Given the description of an element on the screen output the (x, y) to click on. 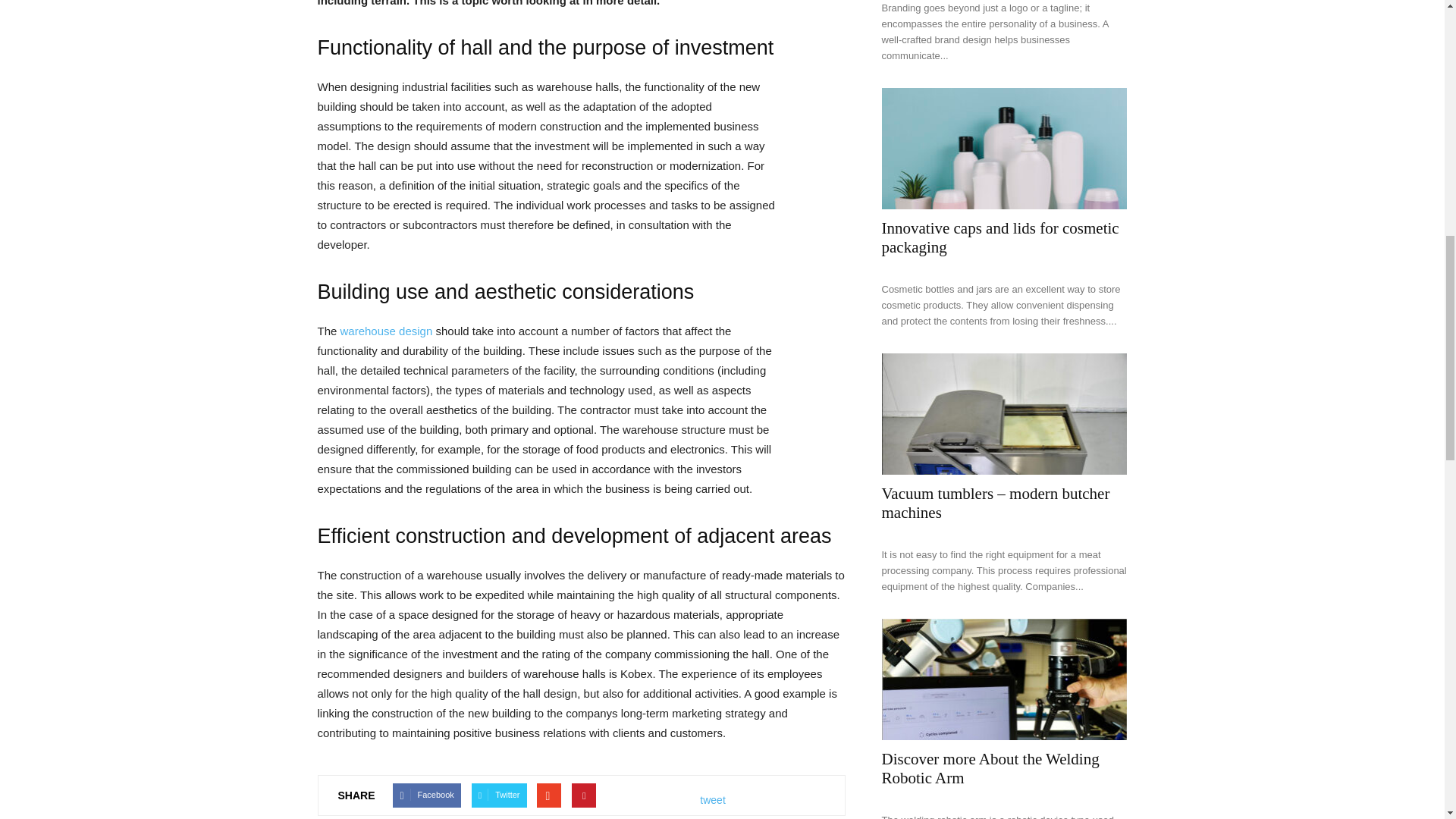
Innovative caps and lids for cosmetic packaging (1003, 148)
Innovative caps and lids for cosmetic packaging (999, 237)
